Given the description of an element on the screen output the (x, y) to click on. 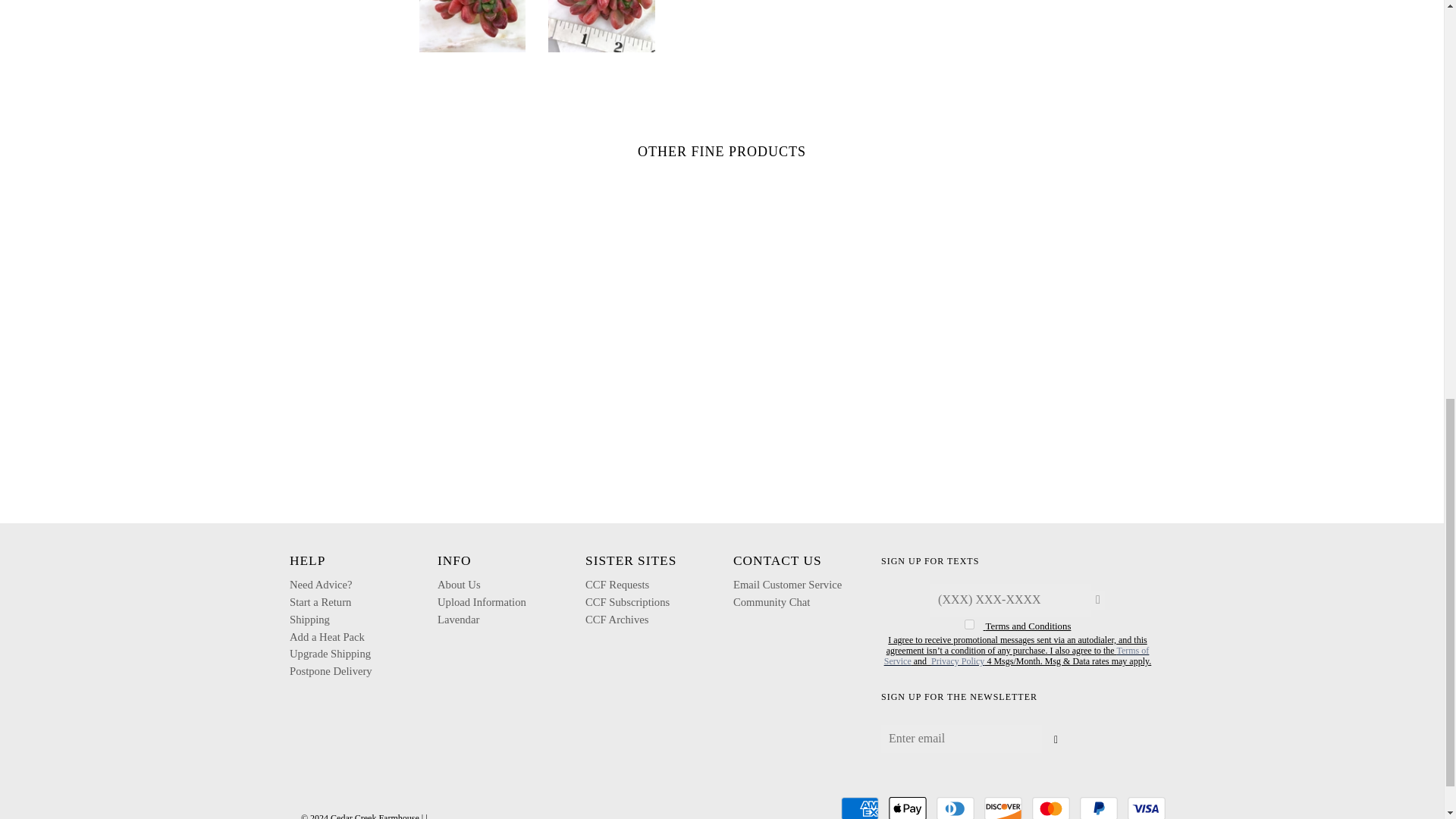
Echeveria 'Paradox' (601, 26)
on (968, 624)
Echeveria 'Paradox' (472, 26)
Echeveria 'Paradox' (342, 26)
